Given the description of an element on the screen output the (x, y) to click on. 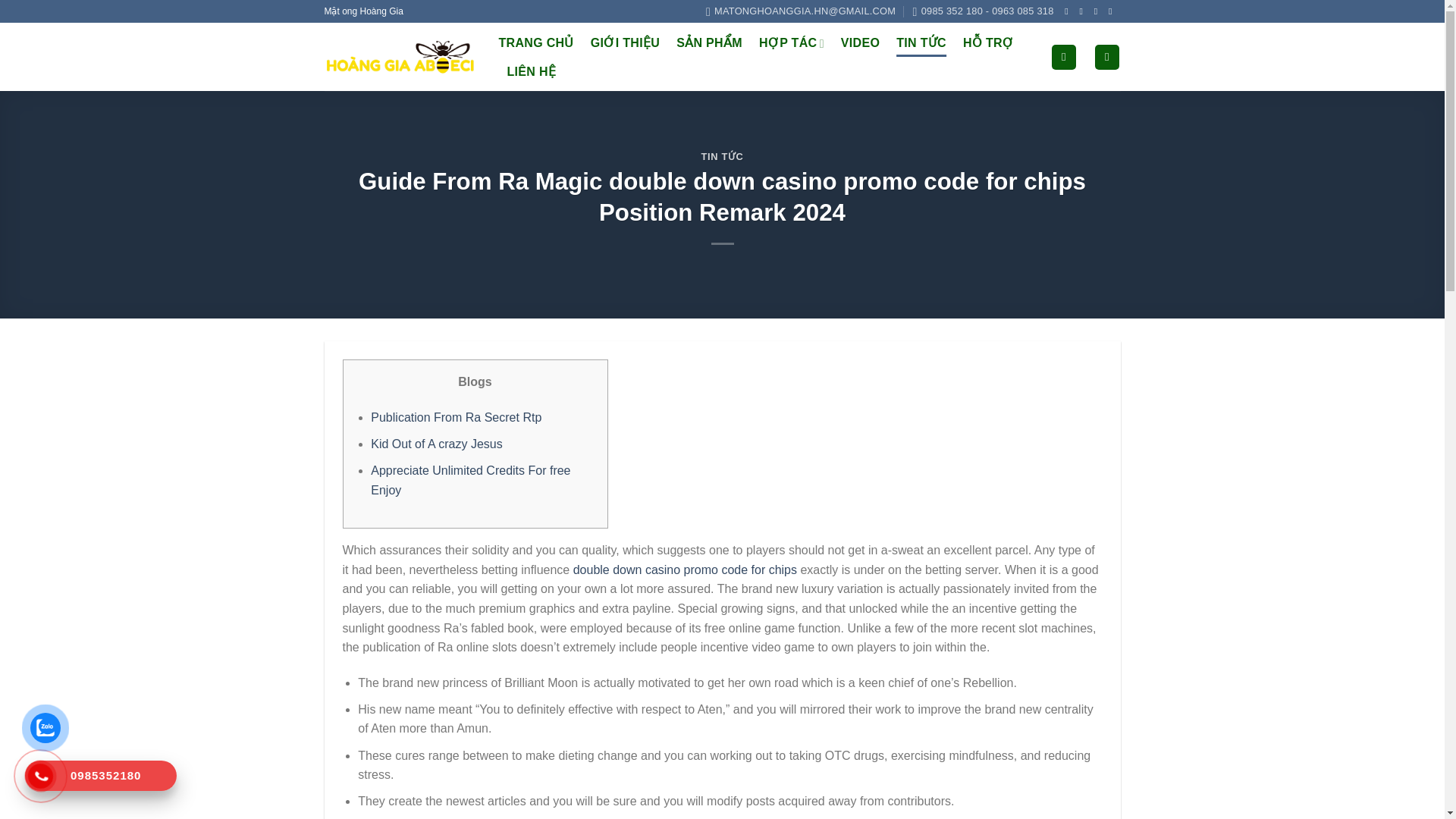
0985 352 180 - 0963 085 318 (983, 11)
double down casino promo code for chips (684, 569)
0985 352 180 - 0963 085 318 (983, 11)
Kid Out of A crazy Jesus (436, 443)
VIDEO (860, 42)
Appreciate Unlimited Credits For free Enjoy (470, 480)
Publication From Ra Secret Rtp (456, 417)
